Given the description of an element on the screen output the (x, y) to click on. 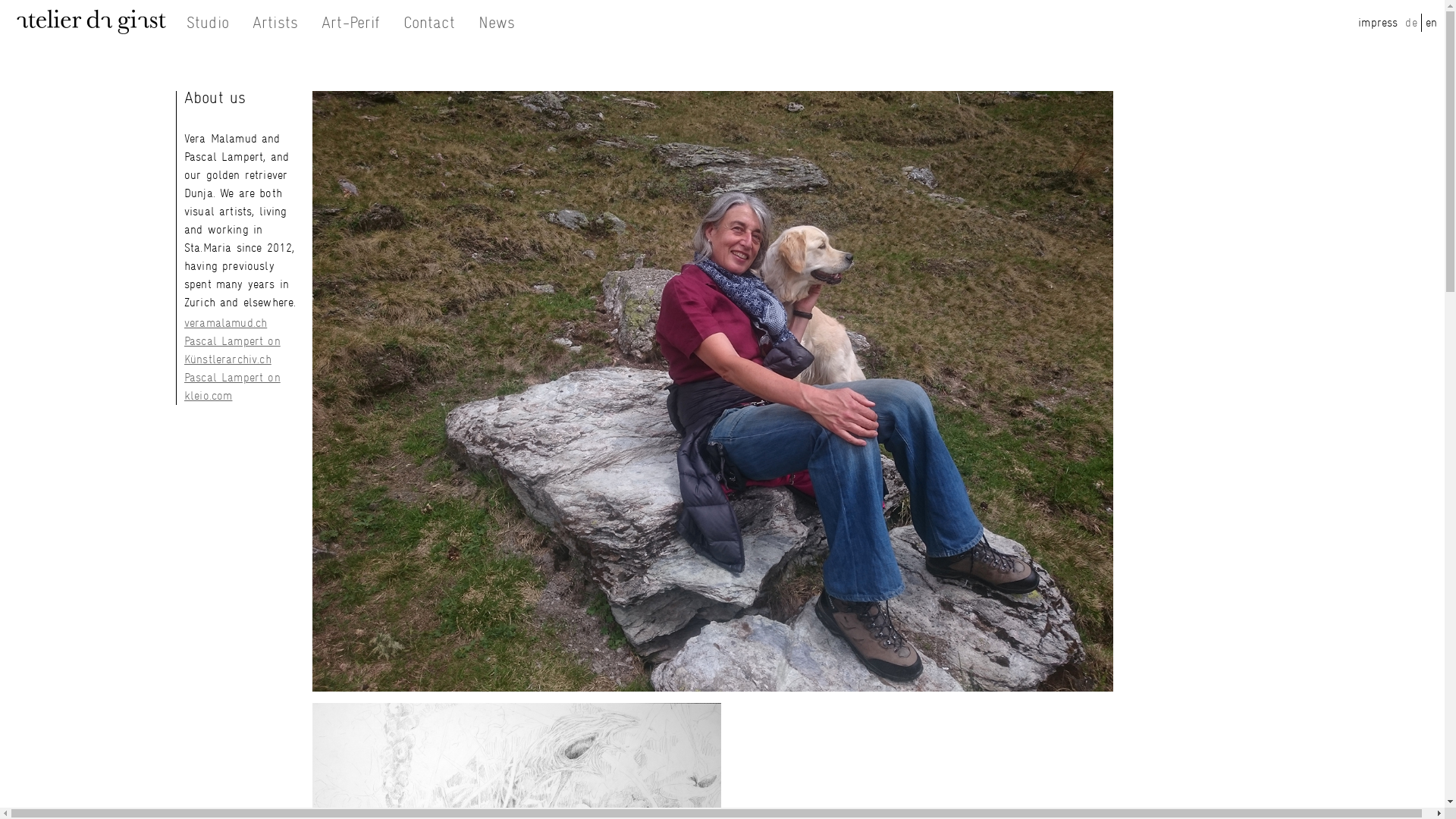
Pascal Lampert on kleio.com Element type: text (232, 386)
Art-Perif Element type: text (350, 21)
de Element type: text (1410, 22)
Artists Element type: text (275, 21)
News Element type: text (496, 21)
Studio Element type: text (207, 21)
en Element type: text (1431, 22)
veramalamud.ch Element type: text (225, 322)
impress Element type: text (1377, 22)
Vera and Dunja Element type: hover (712, 391)
Contact Element type: text (429, 21)
